Given the description of an element on the screen output the (x, y) to click on. 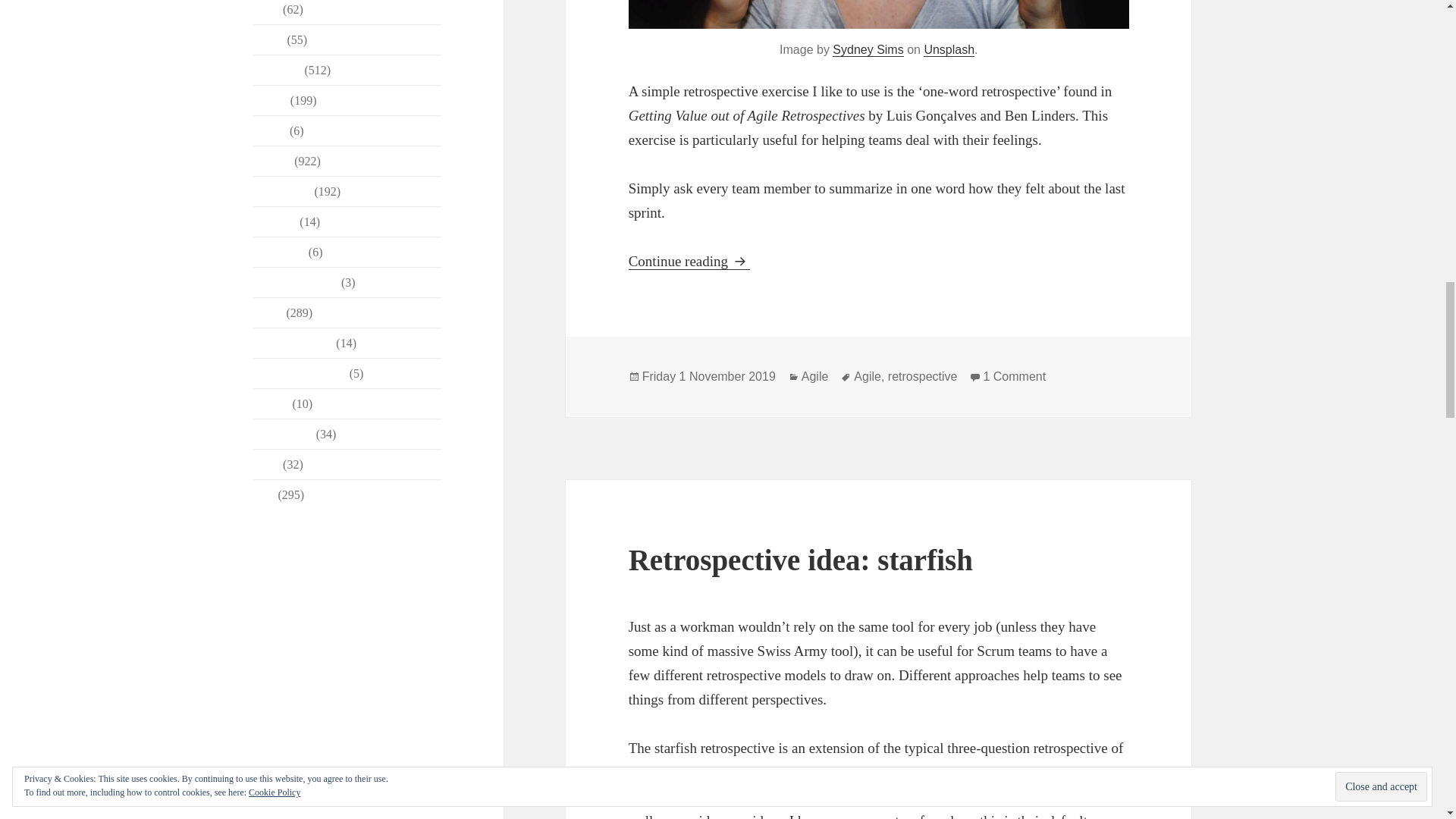
Meningitis (279, 251)
Photon Connection (299, 373)
Music (268, 312)
Microsoft Money (295, 282)
Mahjong (275, 221)
Family (269, 100)
Computer (277, 69)
Games (269, 130)
Books (268, 39)
General (272, 160)
